Given the description of an element on the screen output the (x, y) to click on. 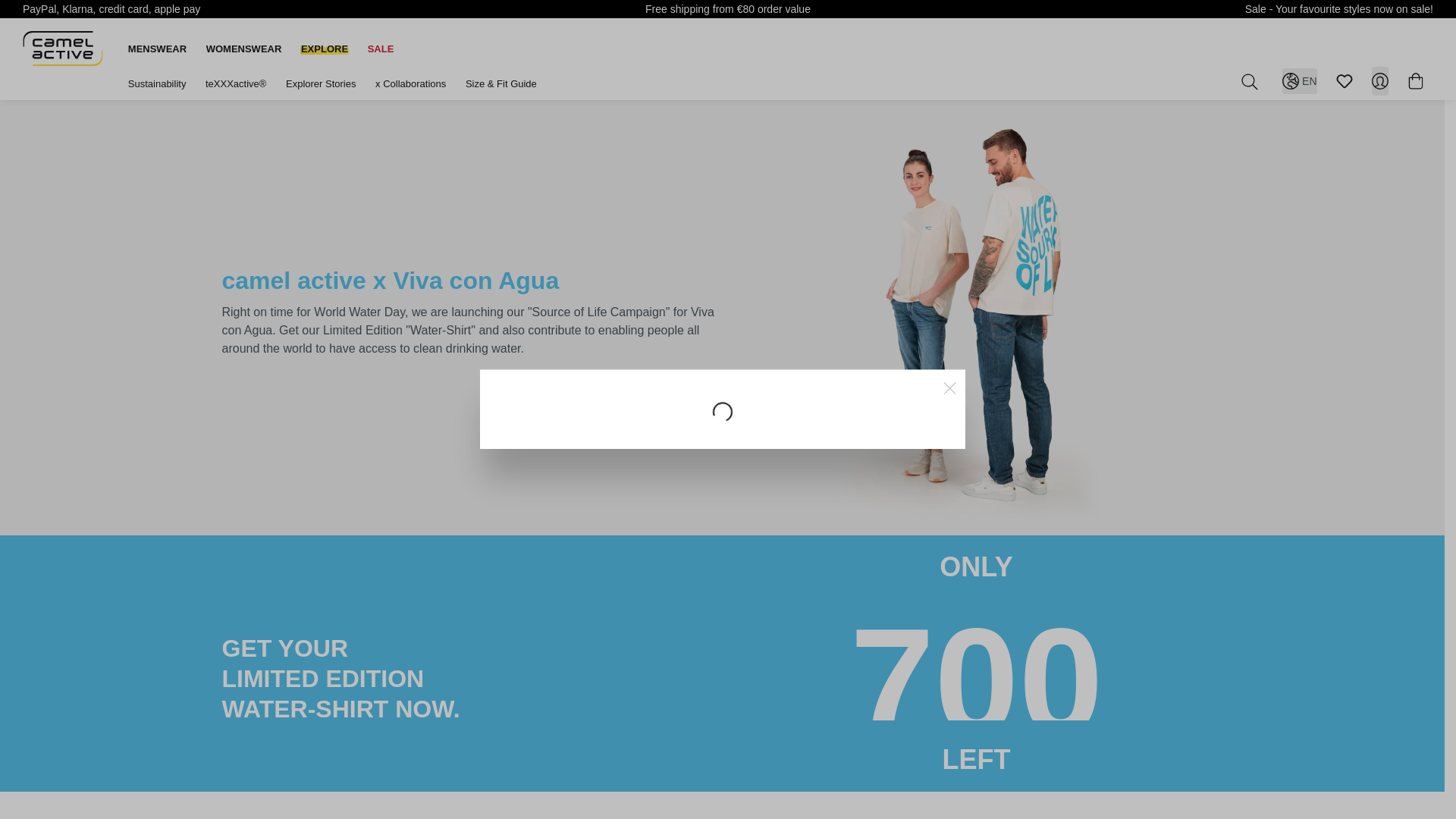
Sale (380, 48)
Explore (324, 48)
SALE (380, 48)
x Collaborations (410, 83)
Womenswear (243, 48)
MENSWEAR (156, 48)
EXPLORE (324, 48)
WOMENSWEAR (243, 48)
Sustainability (156, 83)
Explorer Stories (320, 83)
